Given the description of an element on the screen output the (x, y) to click on. 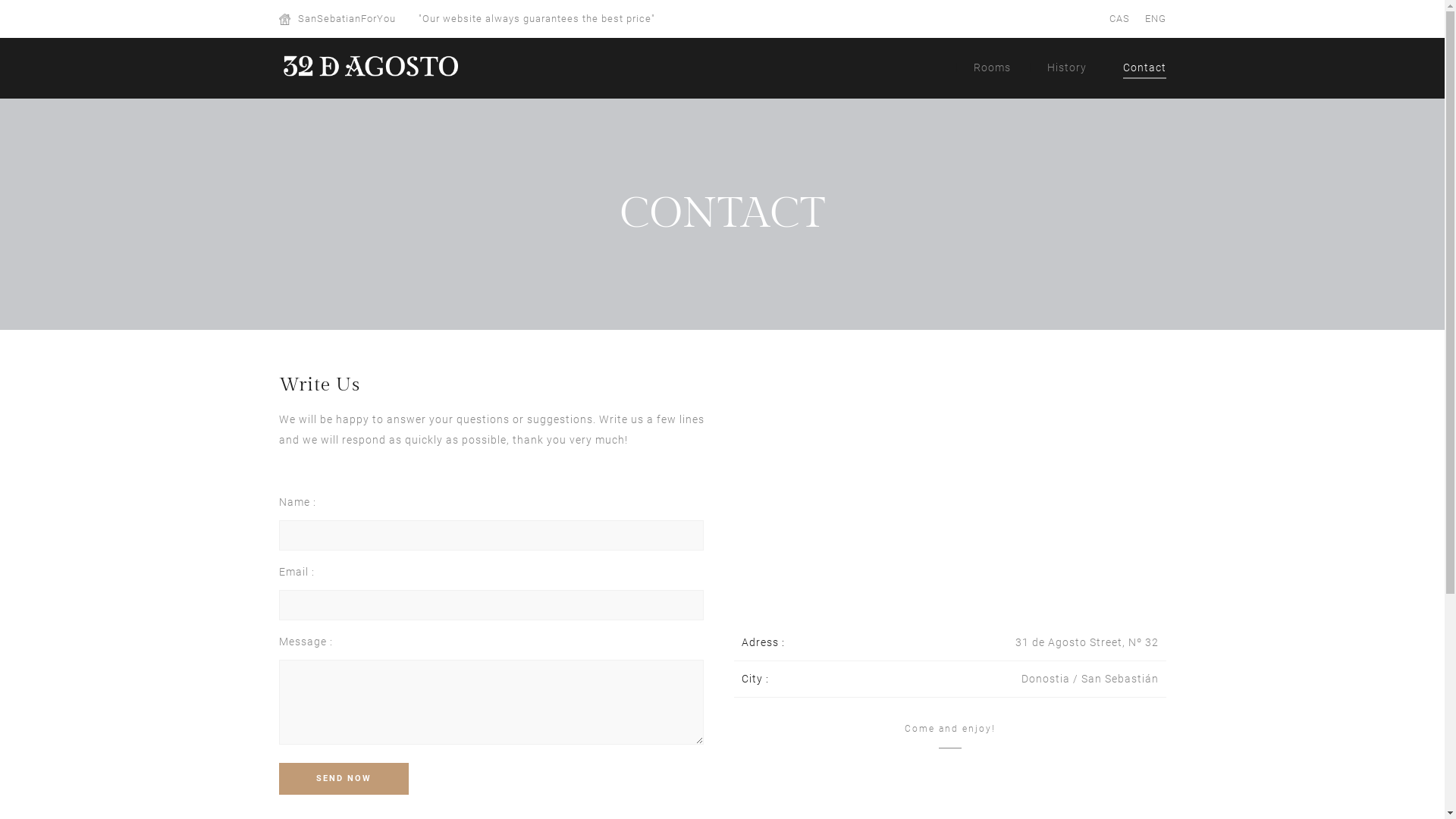
SEND NOW Element type: text (343, 778)
CAS Element type: text (1118, 18)
Rooms Element type: text (991, 64)
History Element type: text (1065, 64)
Contact Element type: text (1143, 67)
SanSebatianForYou Element type: text (346, 18)
ENG Element type: text (1155, 18)
"Our website always guarantees the best price" Element type: text (536, 18)
